Given the description of an element on the screen output the (x, y) to click on. 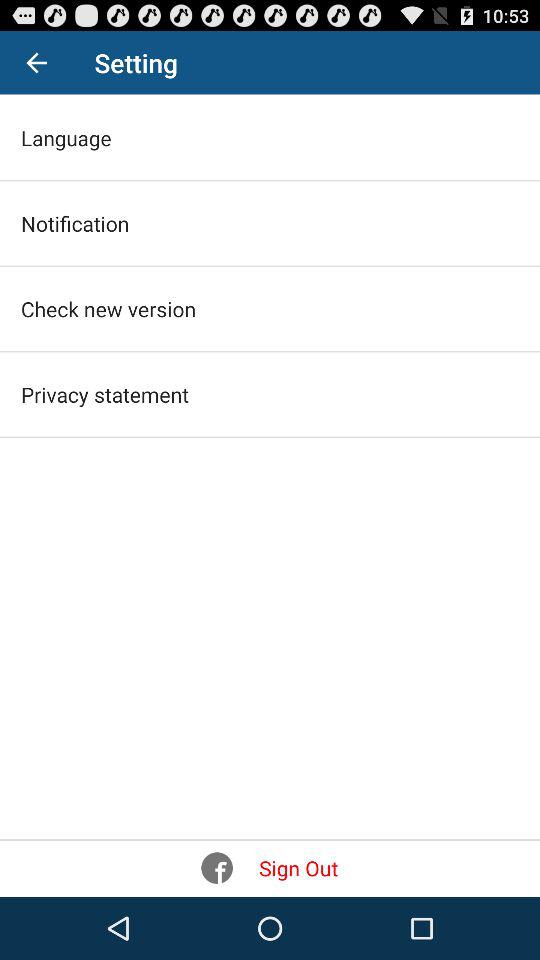
scroll to privacy statement item (104, 394)
